Given the description of an element on the screen output the (x, y) to click on. 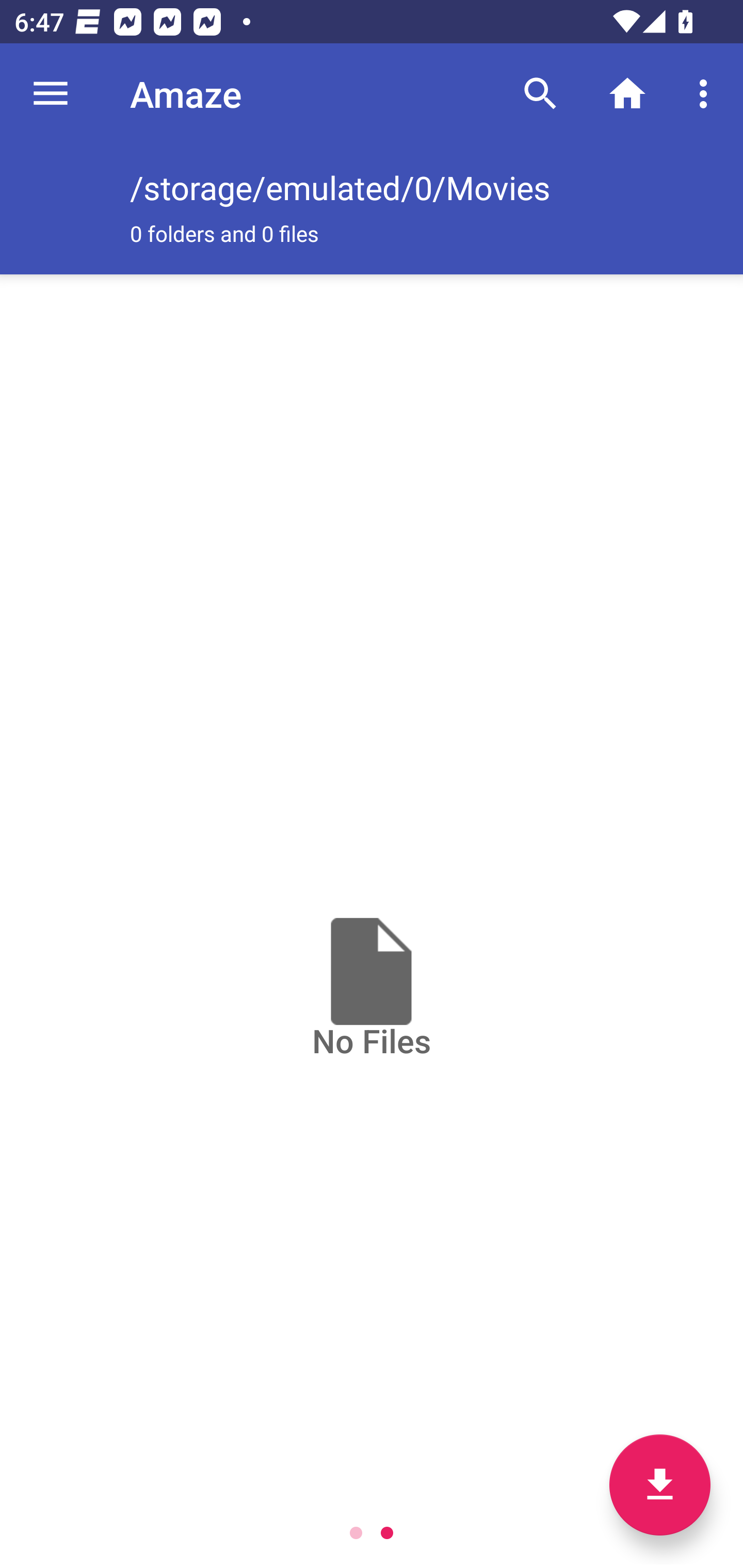
Navigate up (50, 93)
Search (540, 93)
Home (626, 93)
More options (706, 93)
